Given the description of an element on the screen output the (x, y) to click on. 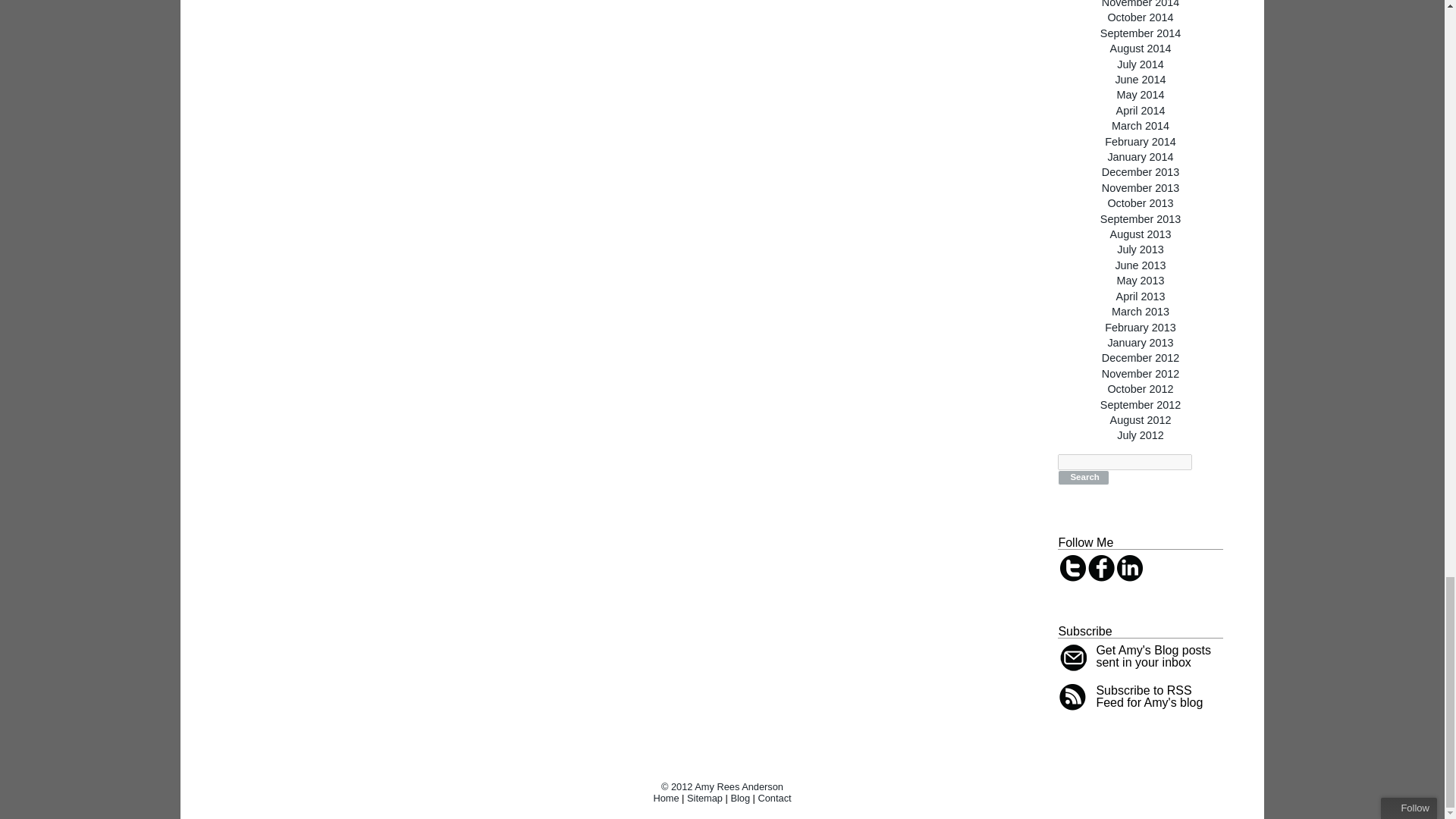
Search (1083, 477)
